Given the description of an element on the screen output the (x, y) to click on. 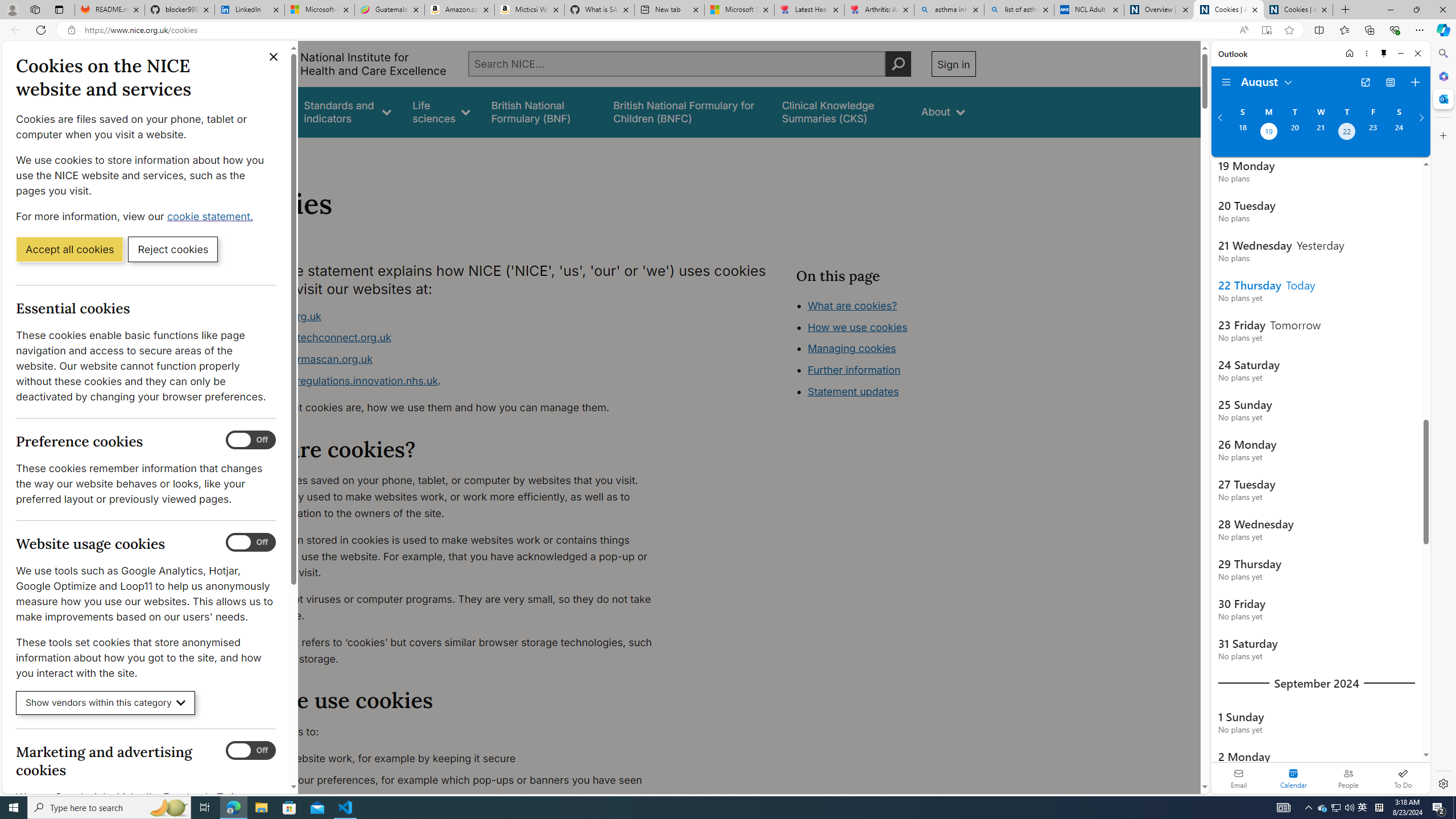
www.healthtechconnect.org.uk (452, 338)
